Given the description of an element on the screen output the (x, y) to click on. 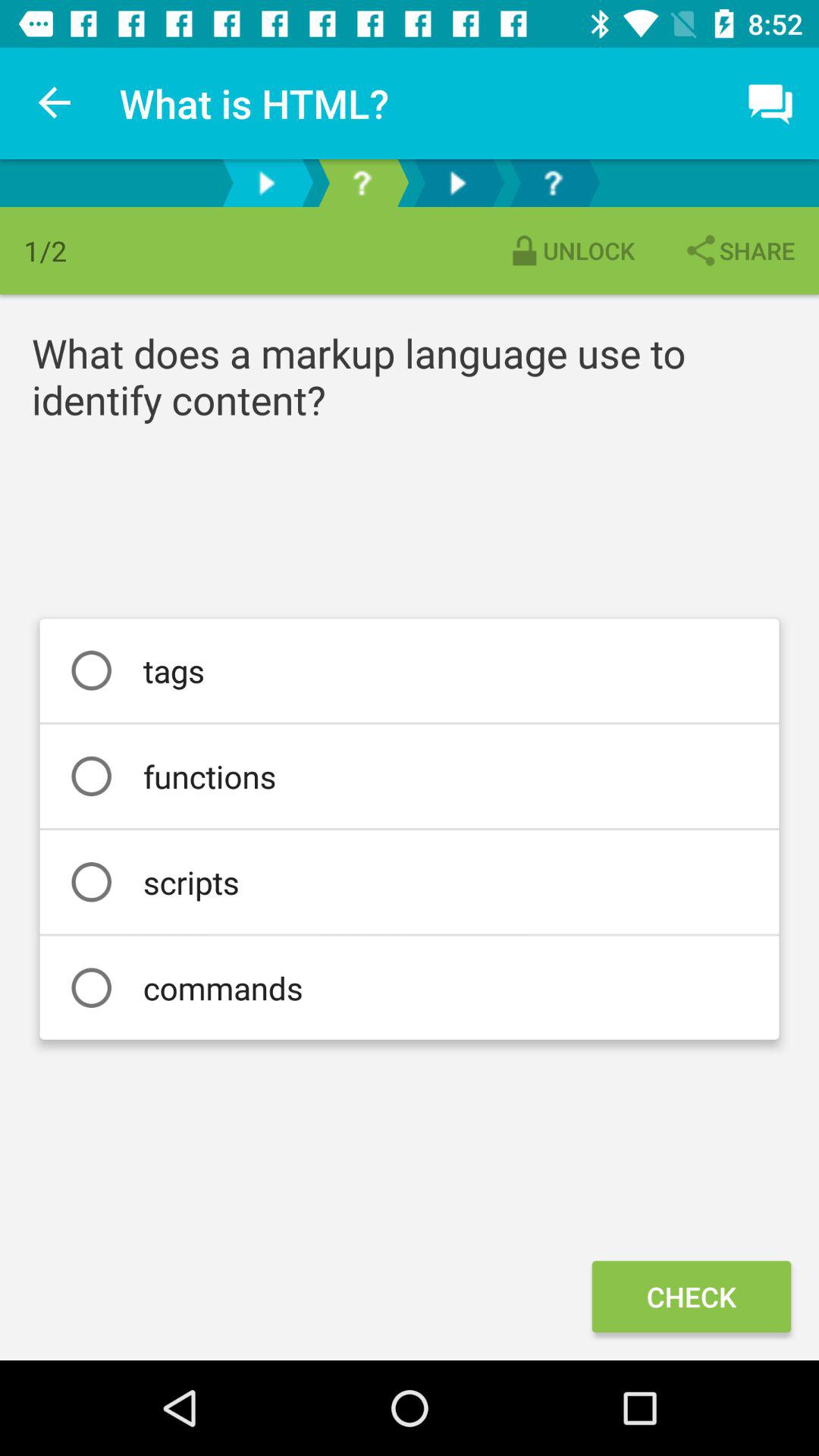
click unlock (570, 250)
